Given the description of an element on the screen output the (x, y) to click on. 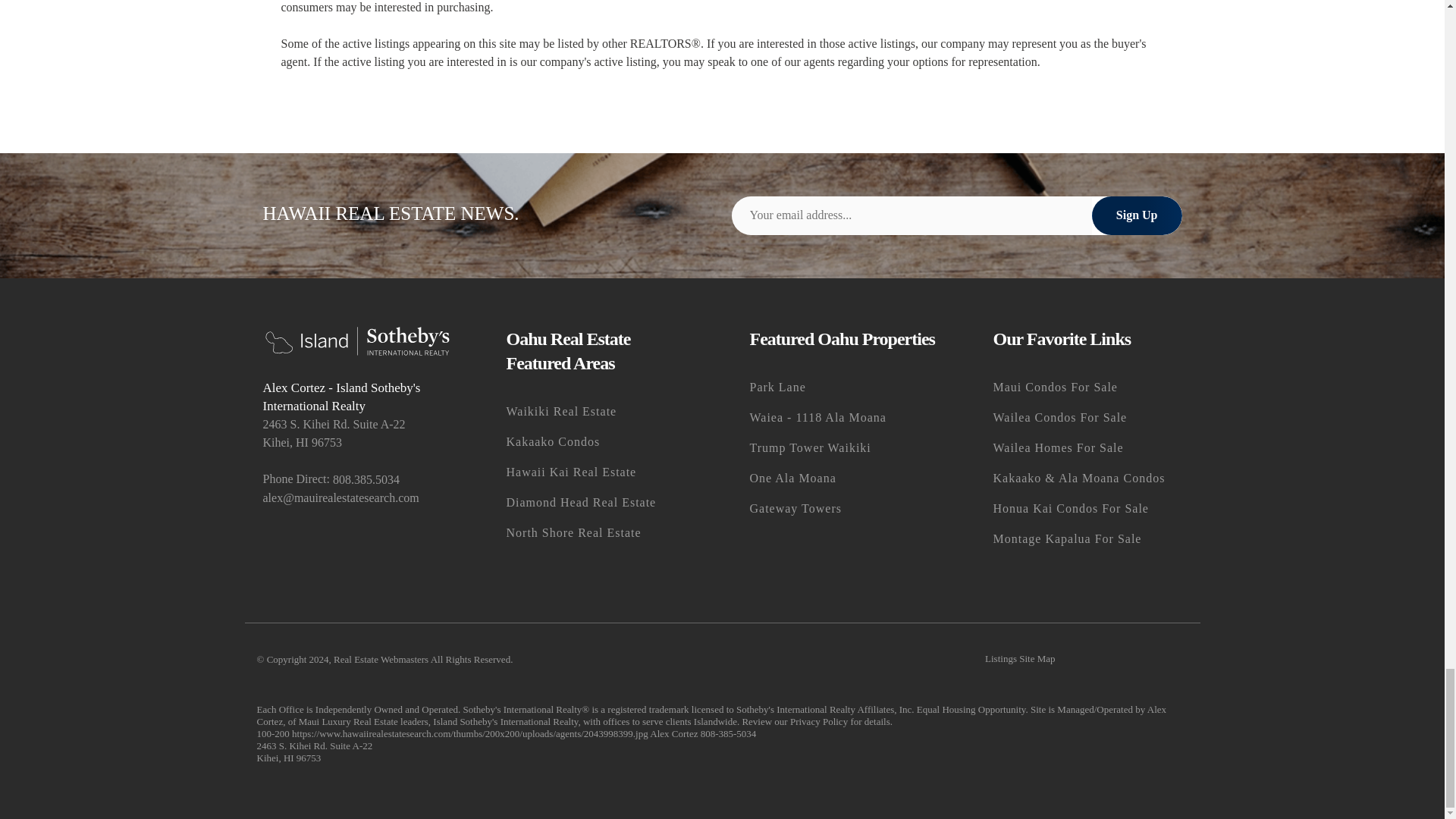
island sothebys maui (347, 721)
